Given the description of an element on the screen output the (x, y) to click on. 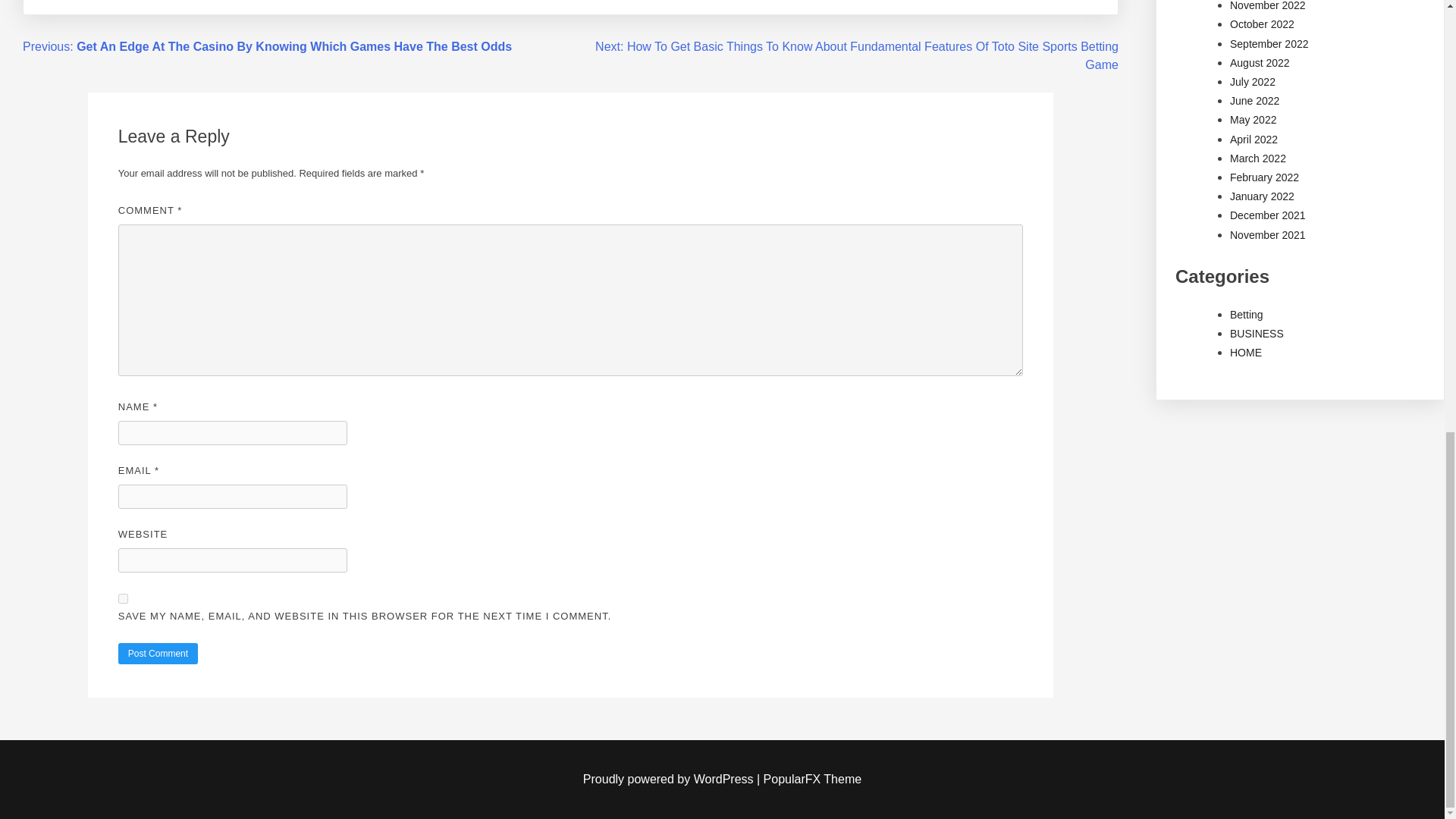
Post Comment (157, 653)
Post Comment (157, 653)
yes (122, 598)
